Given the description of an element on the screen output the (x, y) to click on. 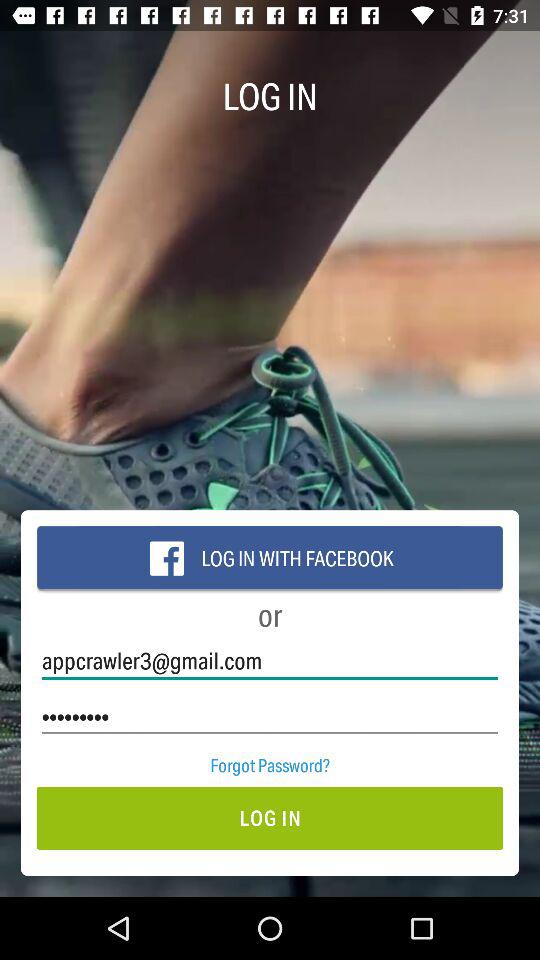
open appcrawler3@gmail.com item (269, 660)
